Given the description of an element on the screen output the (x, y) to click on. 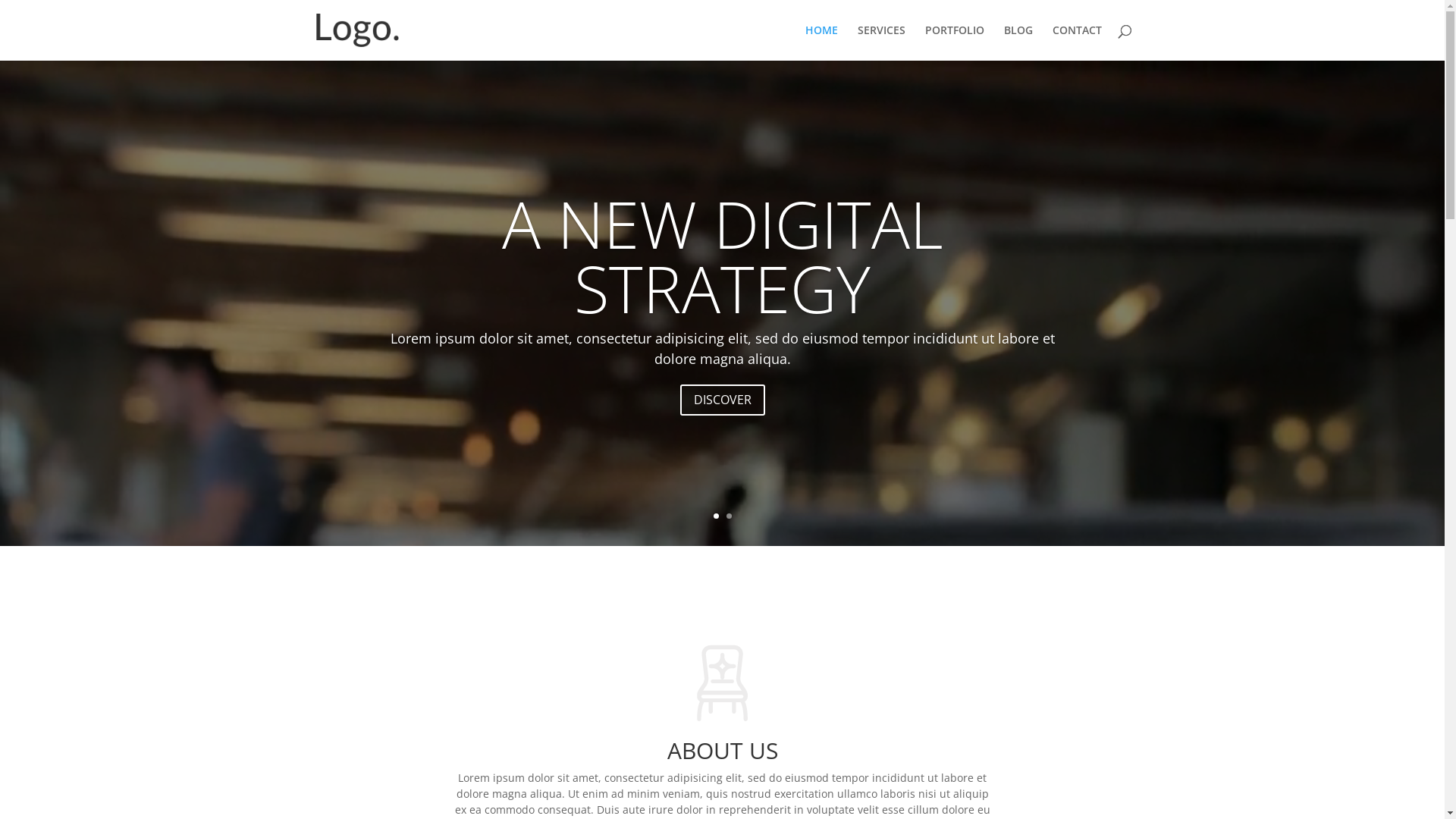
PORTFOLIO Element type: text (954, 42)
2 Element type: text (728, 515)
SERVICES Element type: text (880, 42)
DISCOVER Element type: text (721, 399)
1 Element type: text (715, 515)
CONTACT Element type: text (1076, 42)
A NEW DIGITAL STRATEGY Element type: text (722, 255)
BLOG Element type: text (1018, 42)
HOME Element type: text (821, 42)
